Given the description of an element on the screen output the (x, y) to click on. 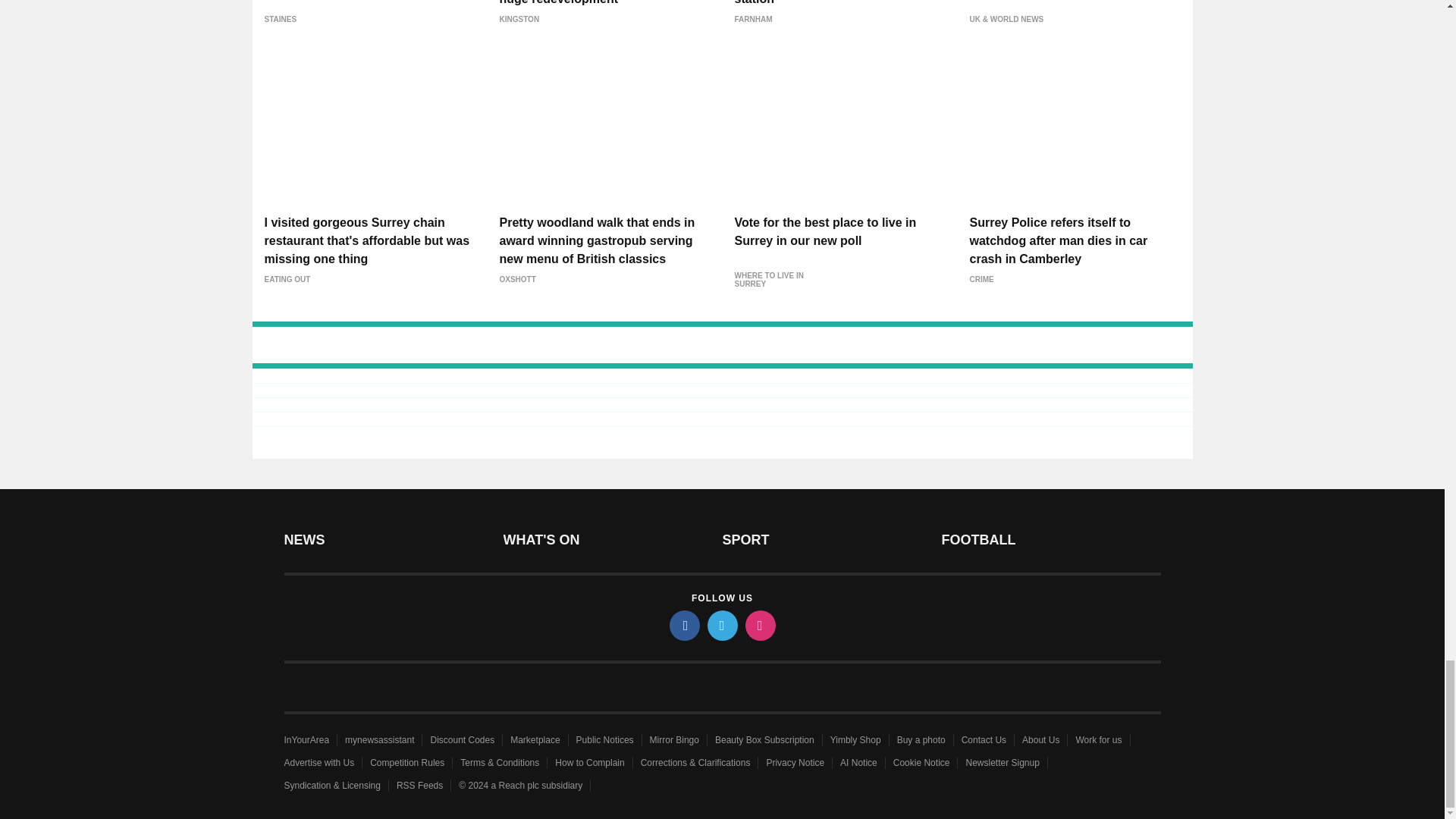
instagram (759, 625)
twitter (721, 625)
facebook (683, 625)
